Given the description of an element on the screen output the (x, y) to click on. 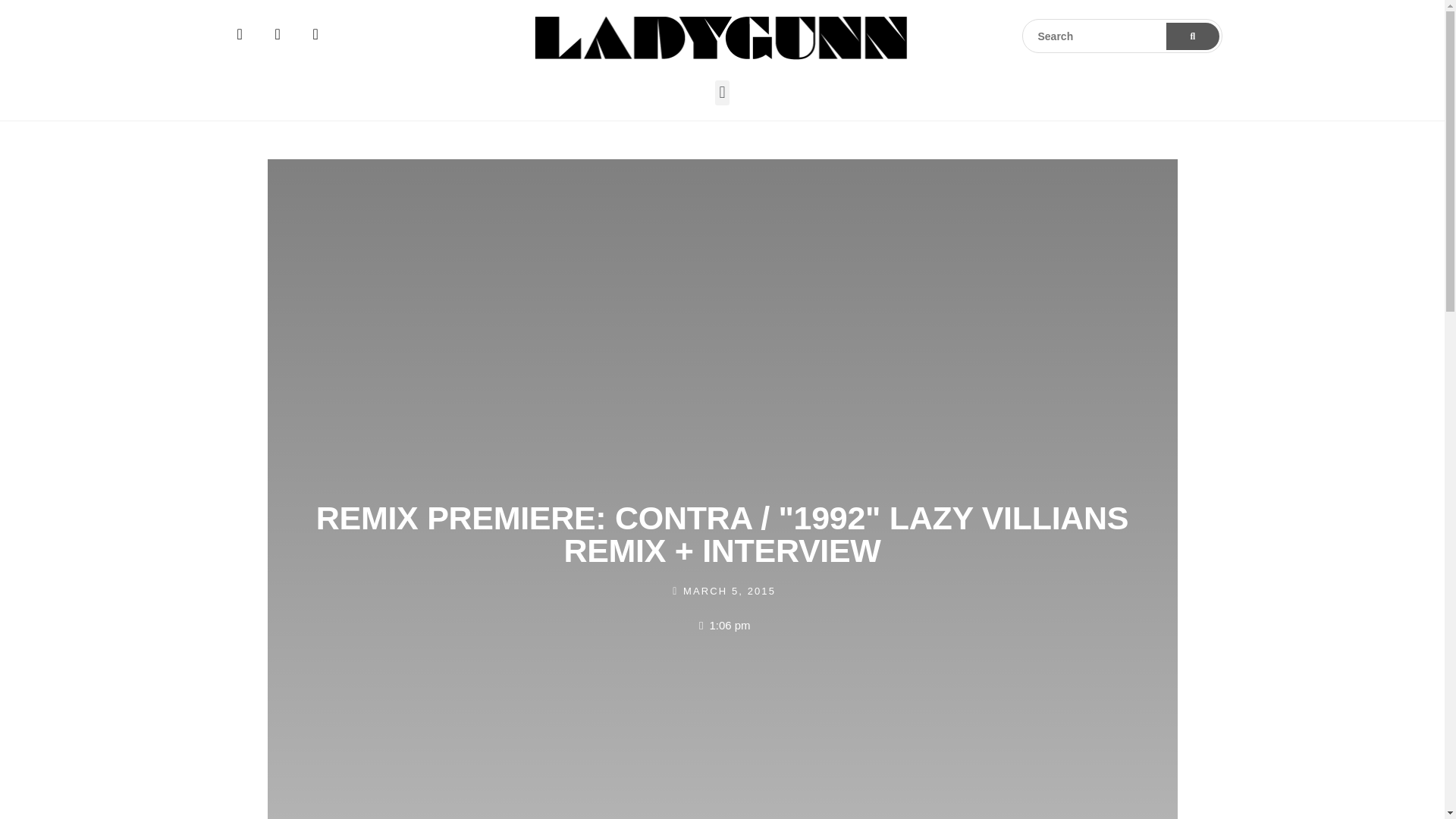
MARCH 5, 2015 (722, 590)
Search (1122, 35)
